Given the description of an element on the screen output the (x, y) to click on. 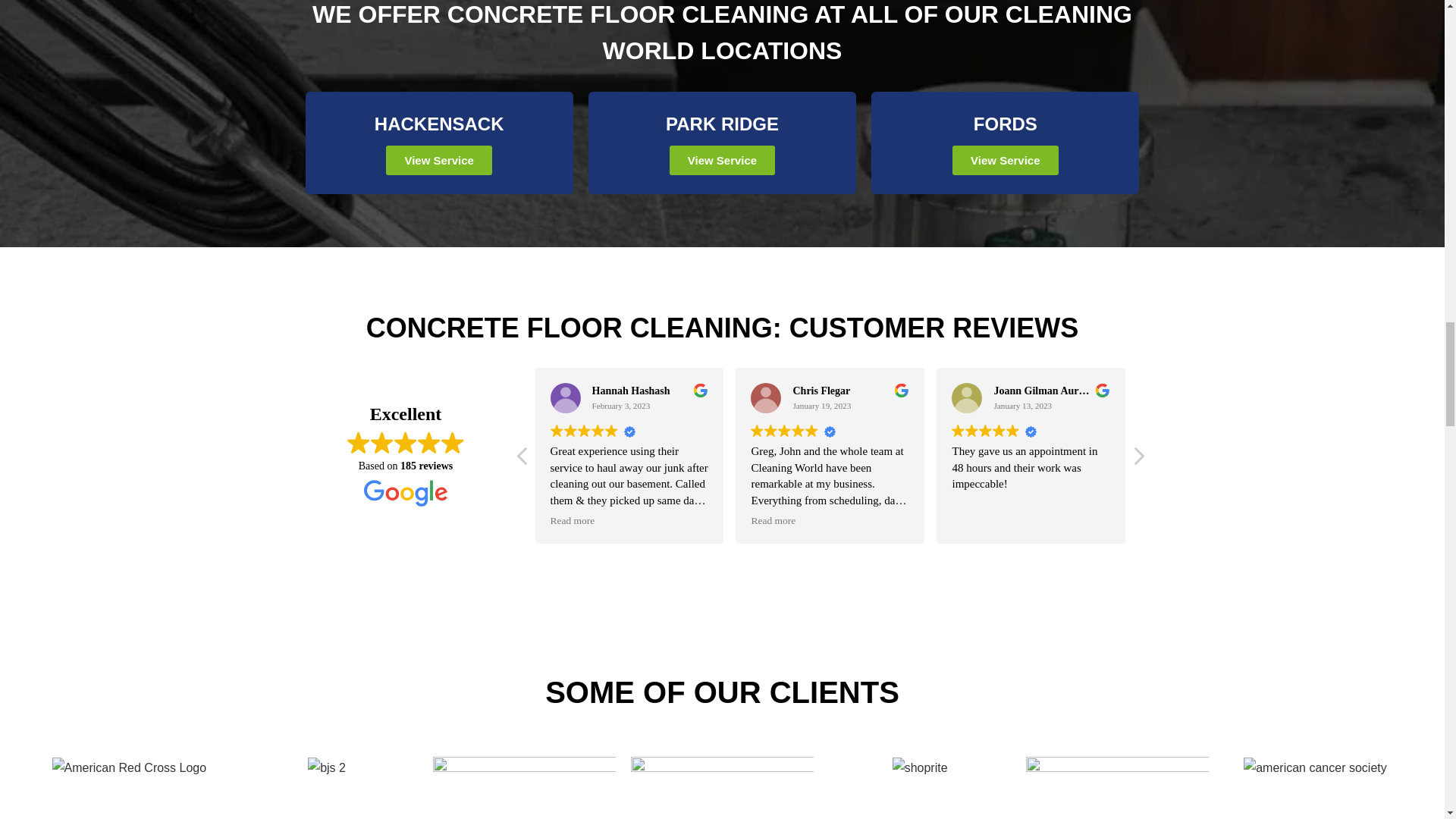
bjs 2 (326, 767)
American Red Cross Logo (129, 767)
shoprite (919, 767)
american cancer society (1315, 767)
